Given the description of an element on the screen output the (x, y) to click on. 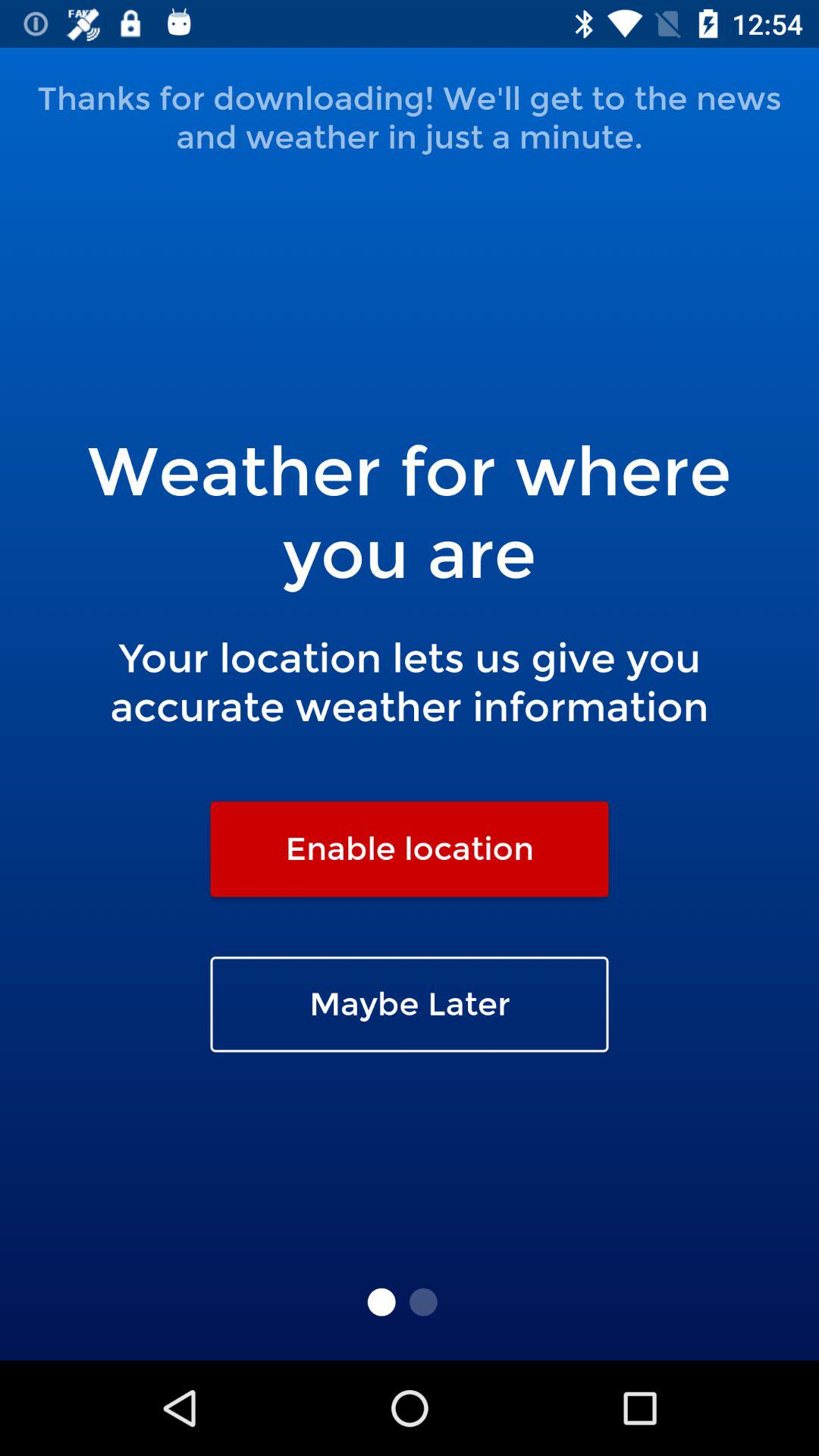
scroll until enable location (409, 848)
